Given the description of an element on the screen output the (x, y) to click on. 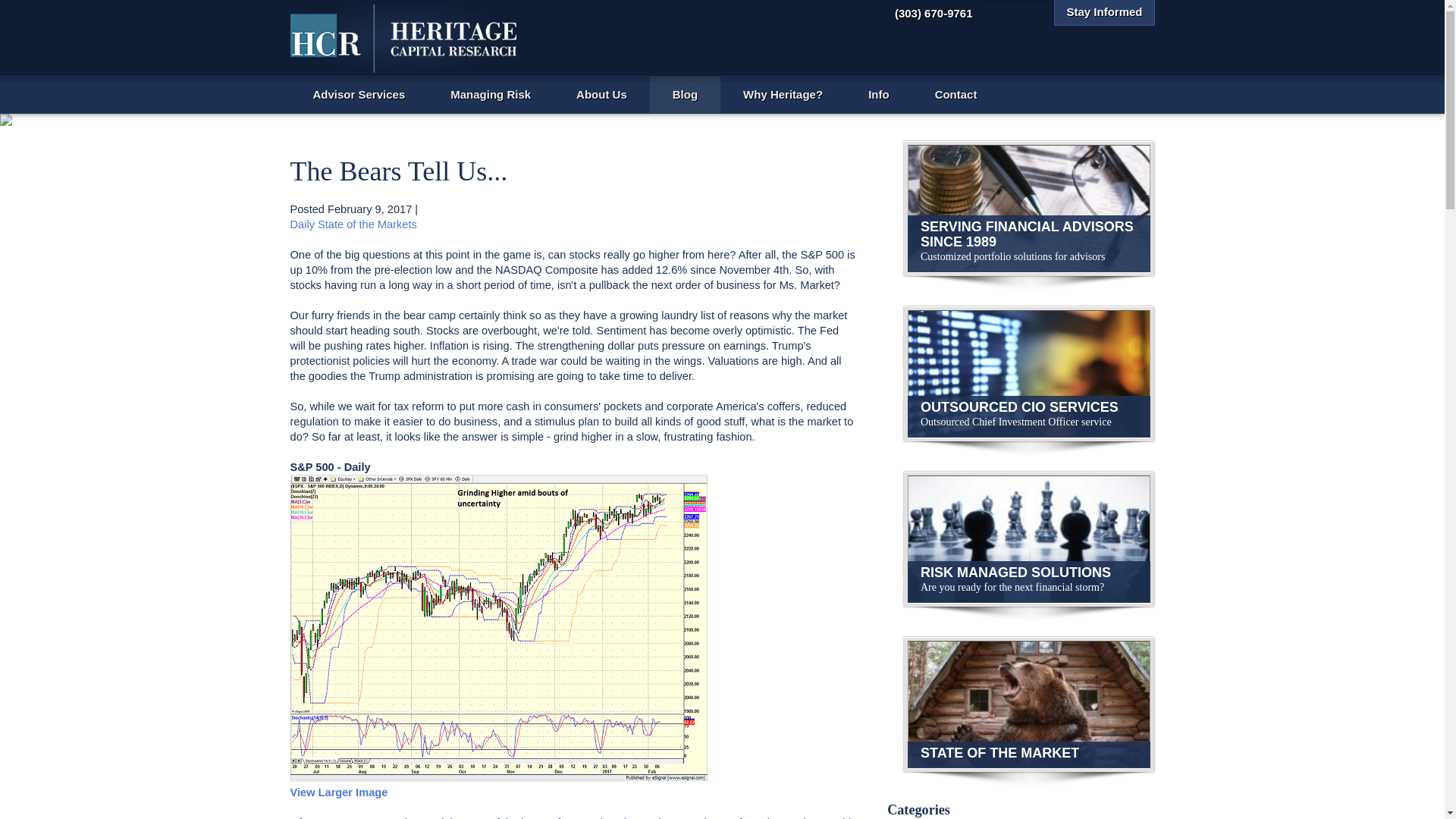
Blog (684, 94)
Daily State of the Markets (352, 224)
Advisor Services (358, 94)
View Larger Image (338, 792)
Contact (956, 94)
Info (878, 94)
Why Heritage? (782, 94)
Stay Informed (1104, 12)
